Given the description of an element on the screen output the (x, y) to click on. 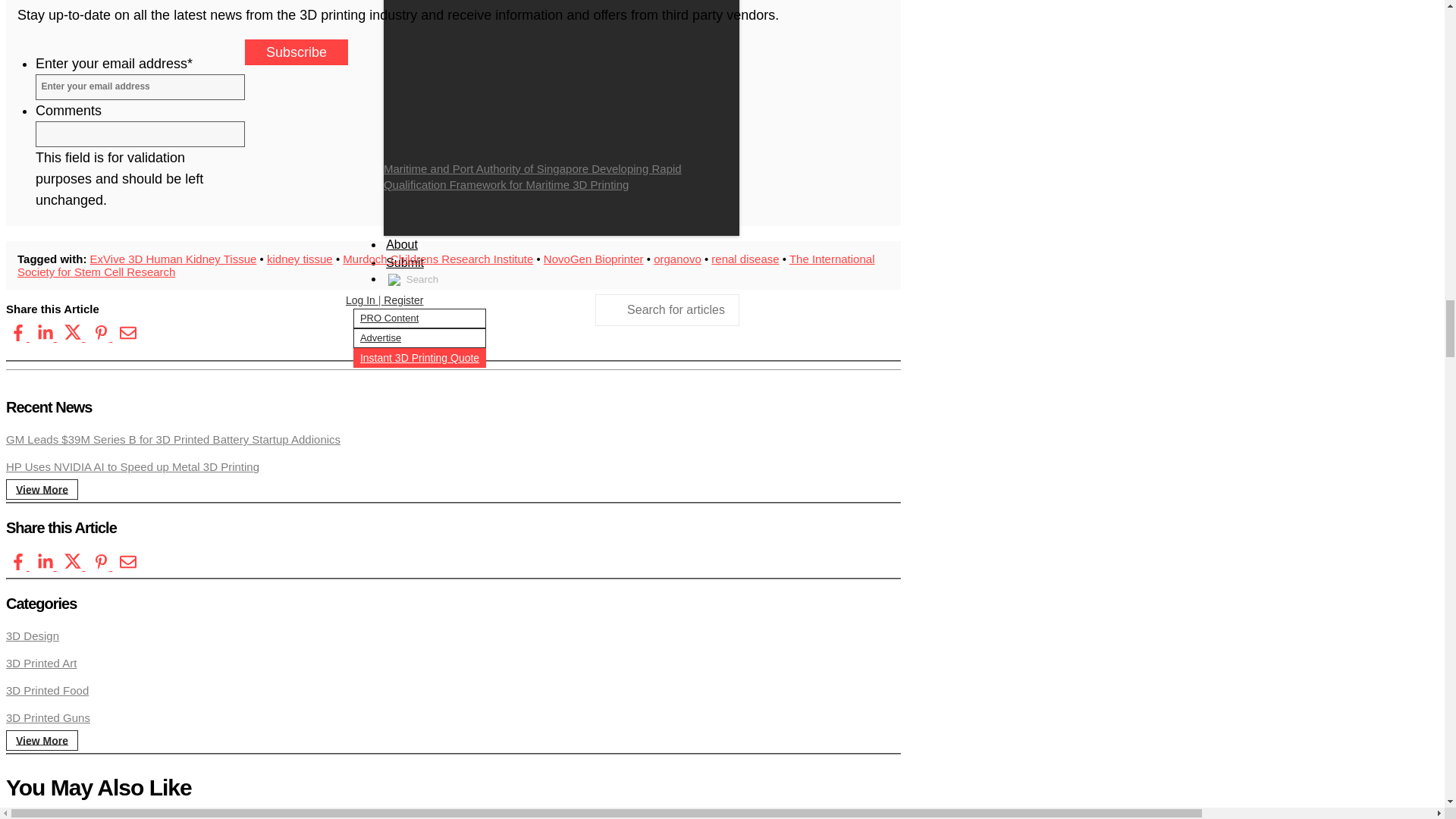
Subscribe (295, 52)
